Given the description of an element on the screen output the (x, y) to click on. 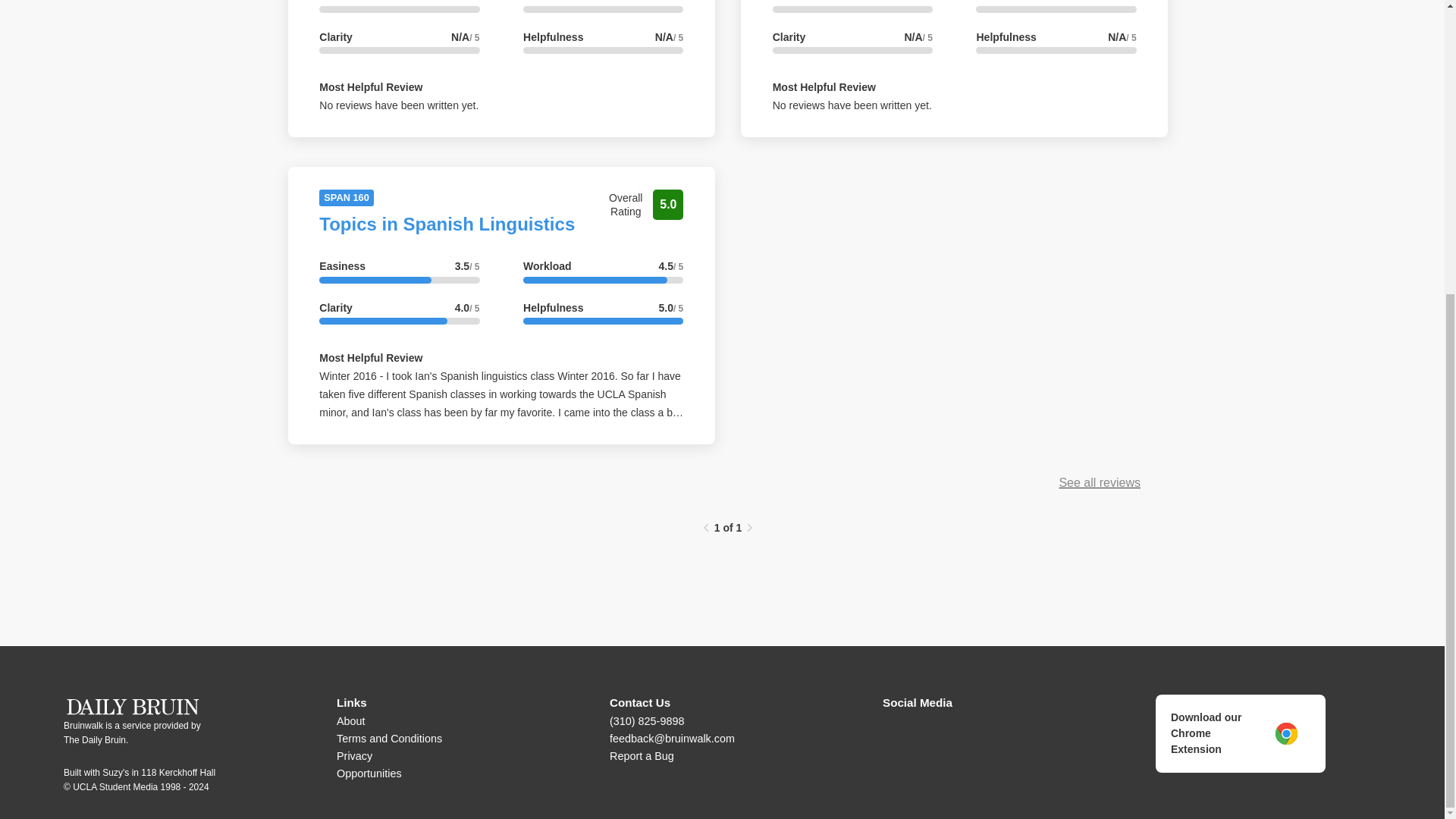
Most Helpful Review (824, 87)
Most Helpful Review (370, 357)
About (350, 720)
Topics in Spanish Linguistics (446, 223)
Most Helpful Review (370, 87)
No reviews have been written yet. (398, 105)
SPAN 160 (346, 196)
Report a Bug (642, 756)
No reviews have been written yet. (852, 105)
Privacy (354, 756)
Terms and Conditions (389, 738)
Opportunities (368, 773)
See all reviews (1099, 481)
